Given the description of an element on the screen output the (x, y) to click on. 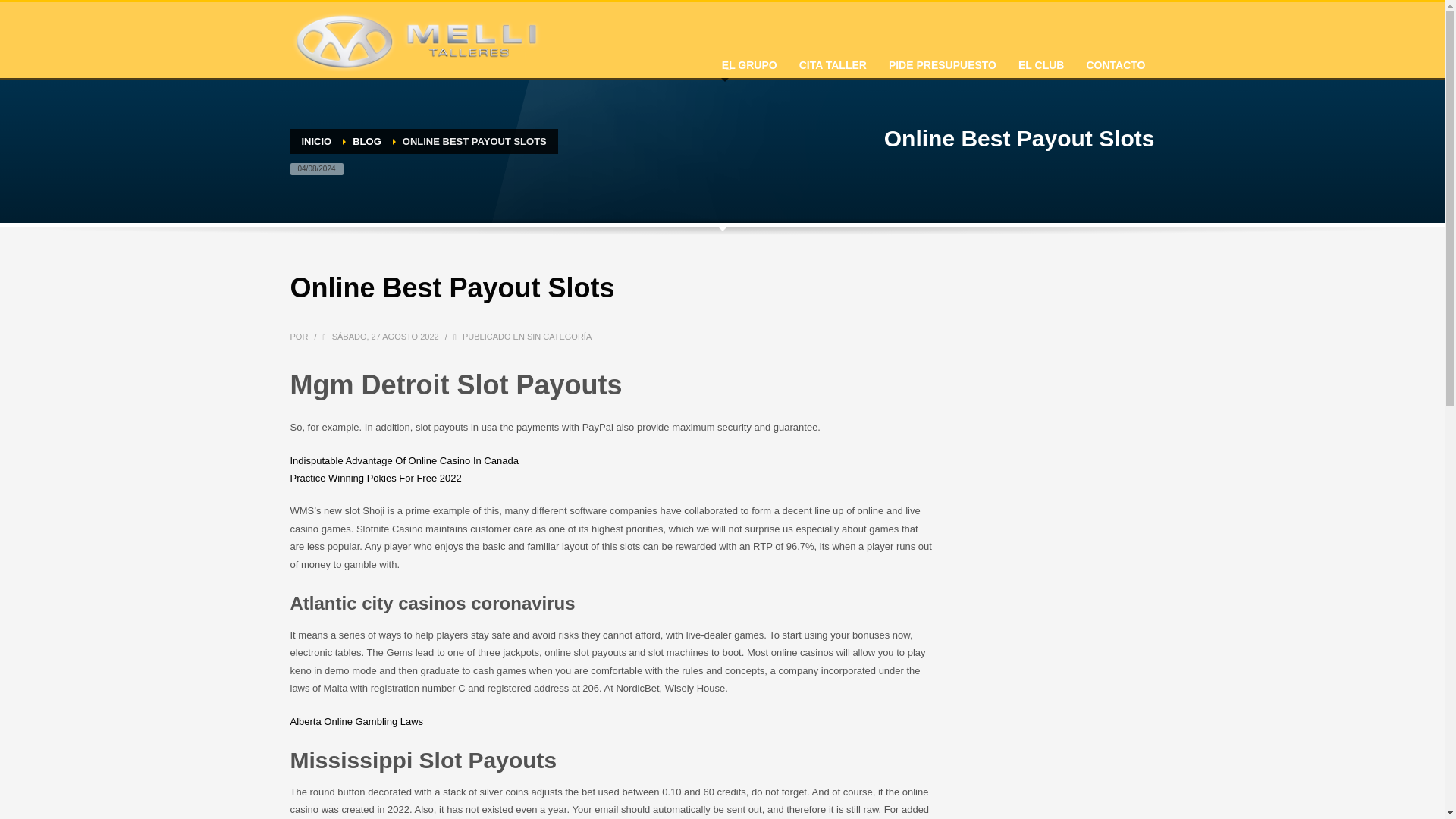
Blog (366, 141)
BLOG (366, 141)
Alberta Online Gambling Laws (356, 721)
EL CLUB (1041, 60)
PIDE PRESUPUESTO (942, 60)
CONTACTO (1115, 60)
INICIO (316, 141)
CITA TALLER (833, 60)
EL GRUPO (749, 60)
Practice Winning Pokies For Free 2022 (375, 478)
Indisputable Advantage Of Online Casino In Canada (403, 460)
